Given the description of an element on the screen output the (x, y) to click on. 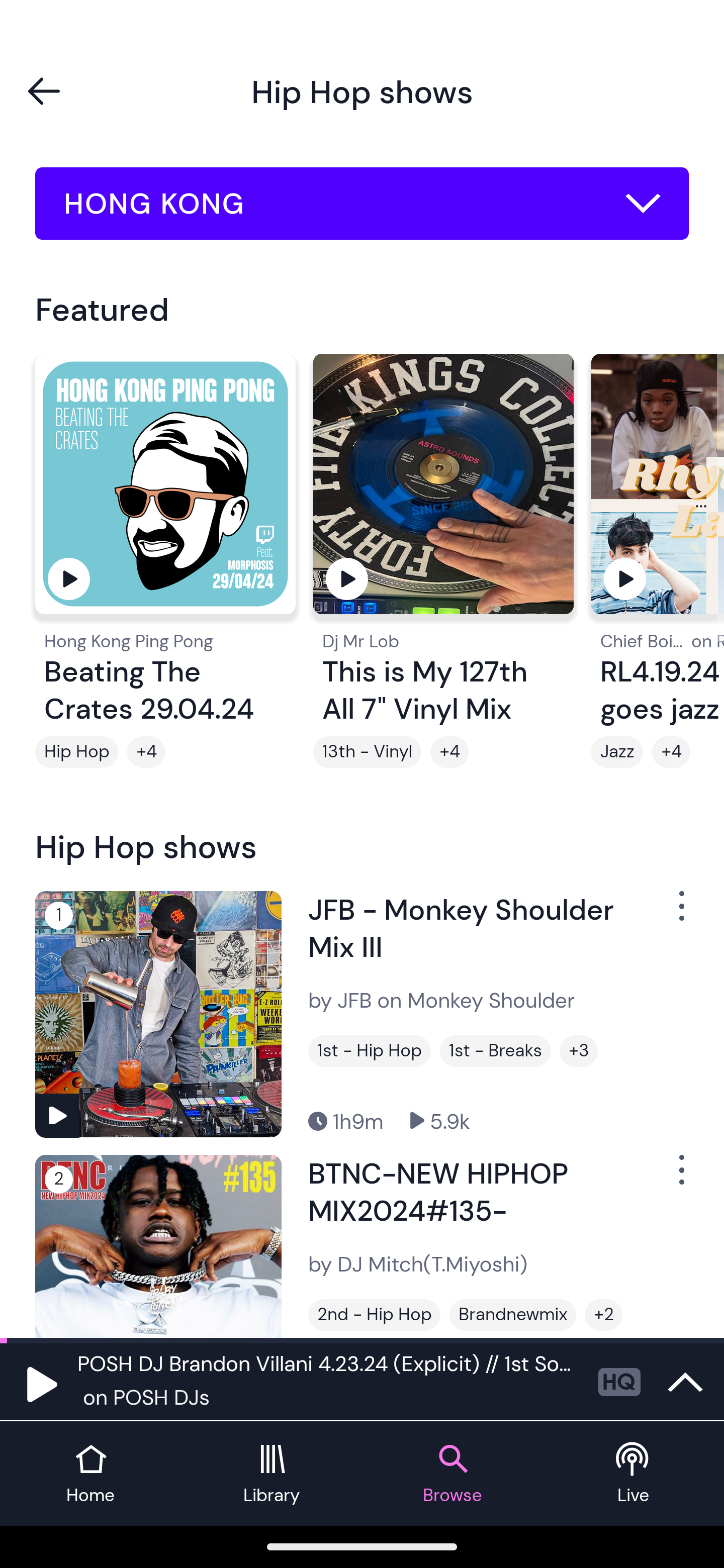
HONG KONG (361, 203)
Hip Hop (76, 752)
13th - Vinyl (367, 752)
Jazz (616, 752)
Show Options Menu Button (679, 913)
1st - Hip Hop (369, 1050)
1st - Breaks (495, 1050)
Show Options Menu Button (679, 1178)
2nd - Hip Hop (374, 1315)
Brandnewmix (512, 1315)
Home tab Home (90, 1473)
Library tab Library (271, 1473)
Browse tab Browse (452, 1473)
Live tab Live (633, 1473)
